Given the description of an element on the screen output the (x, y) to click on. 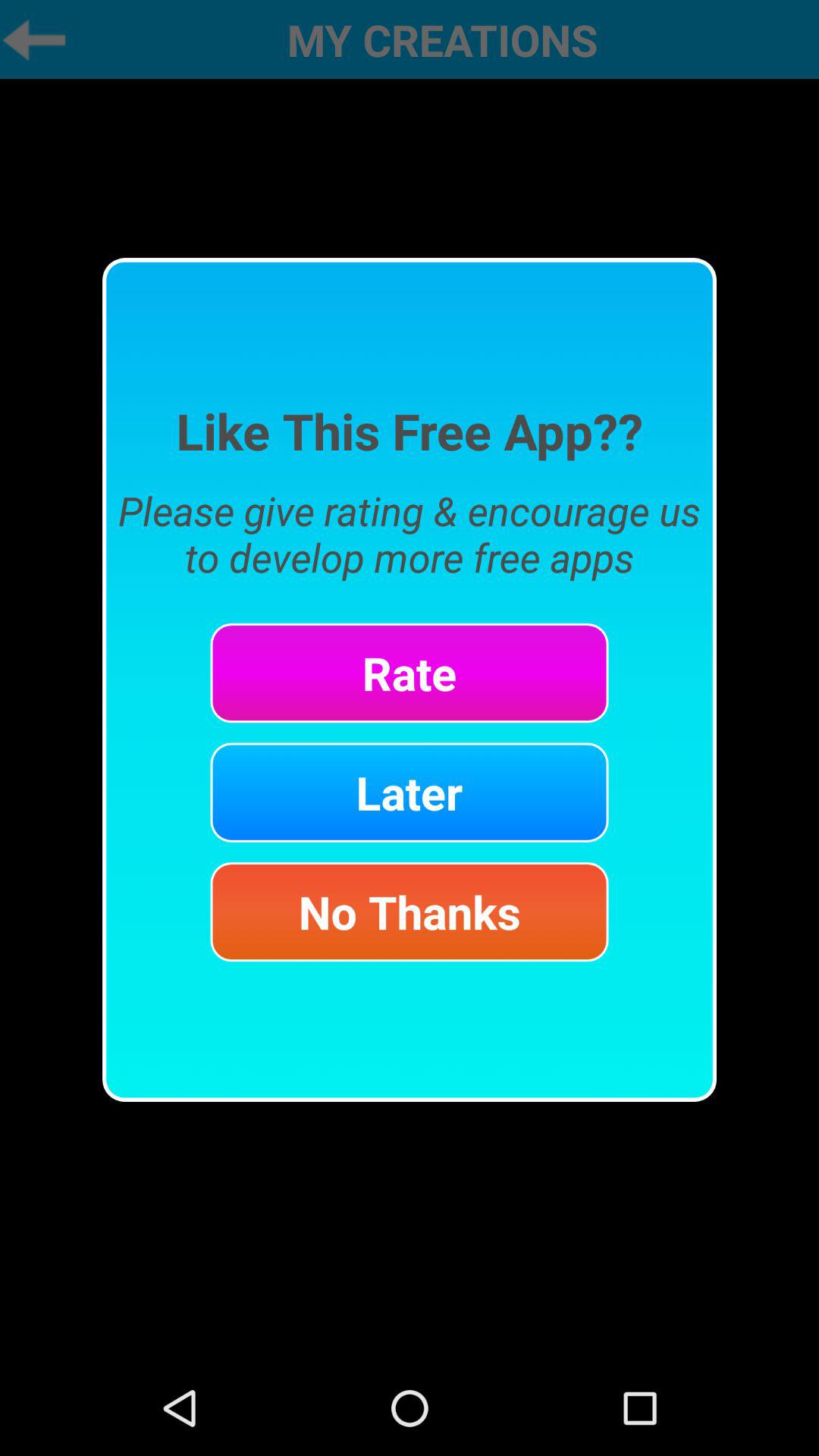
launch no thanks (409, 911)
